Given the description of an element on the screen output the (x, y) to click on. 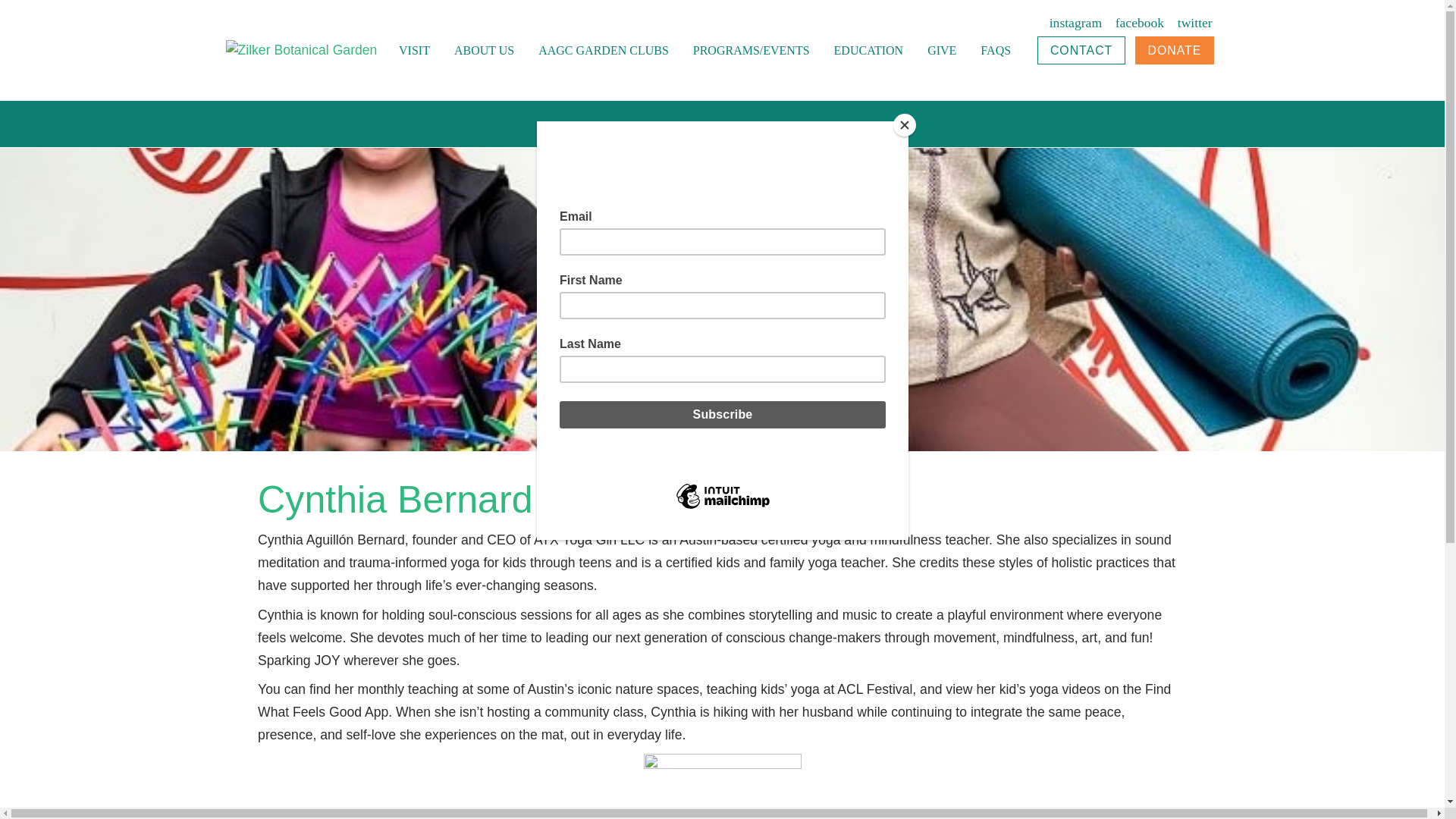
EDUCATION (868, 50)
instagram (1075, 23)
twitter (1195, 23)
DONATE (1175, 50)
CONTACT (1080, 50)
facebook (1139, 23)
AAGC GARDEN CLUBS (603, 50)
